Given the description of an element on the screen output the (x, y) to click on. 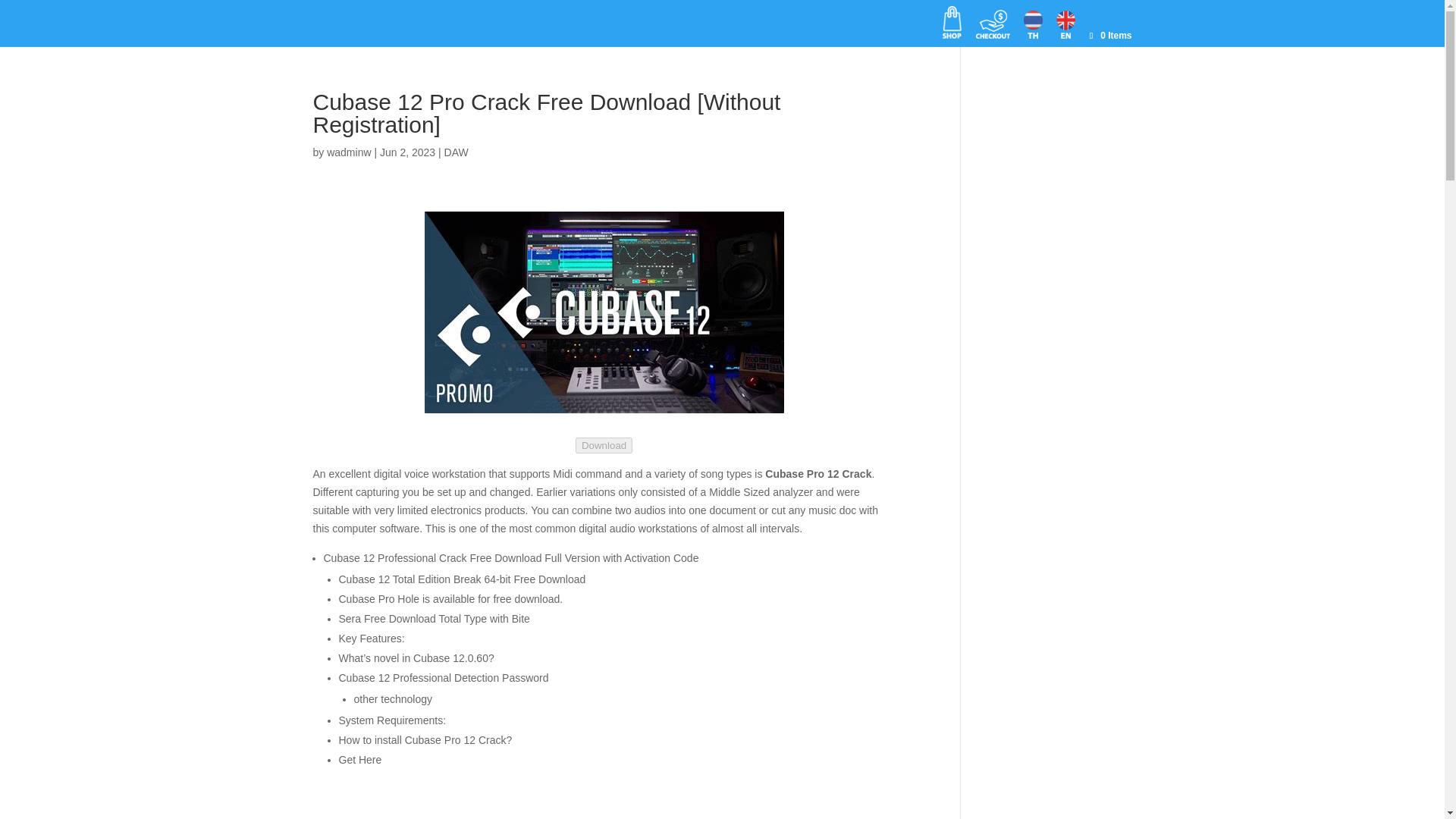
wadminw (348, 152)
0 Items (1108, 35)
Posts by wadminw (348, 152)
DAW (456, 152)
